Given the description of an element on the screen output the (x, y) to click on. 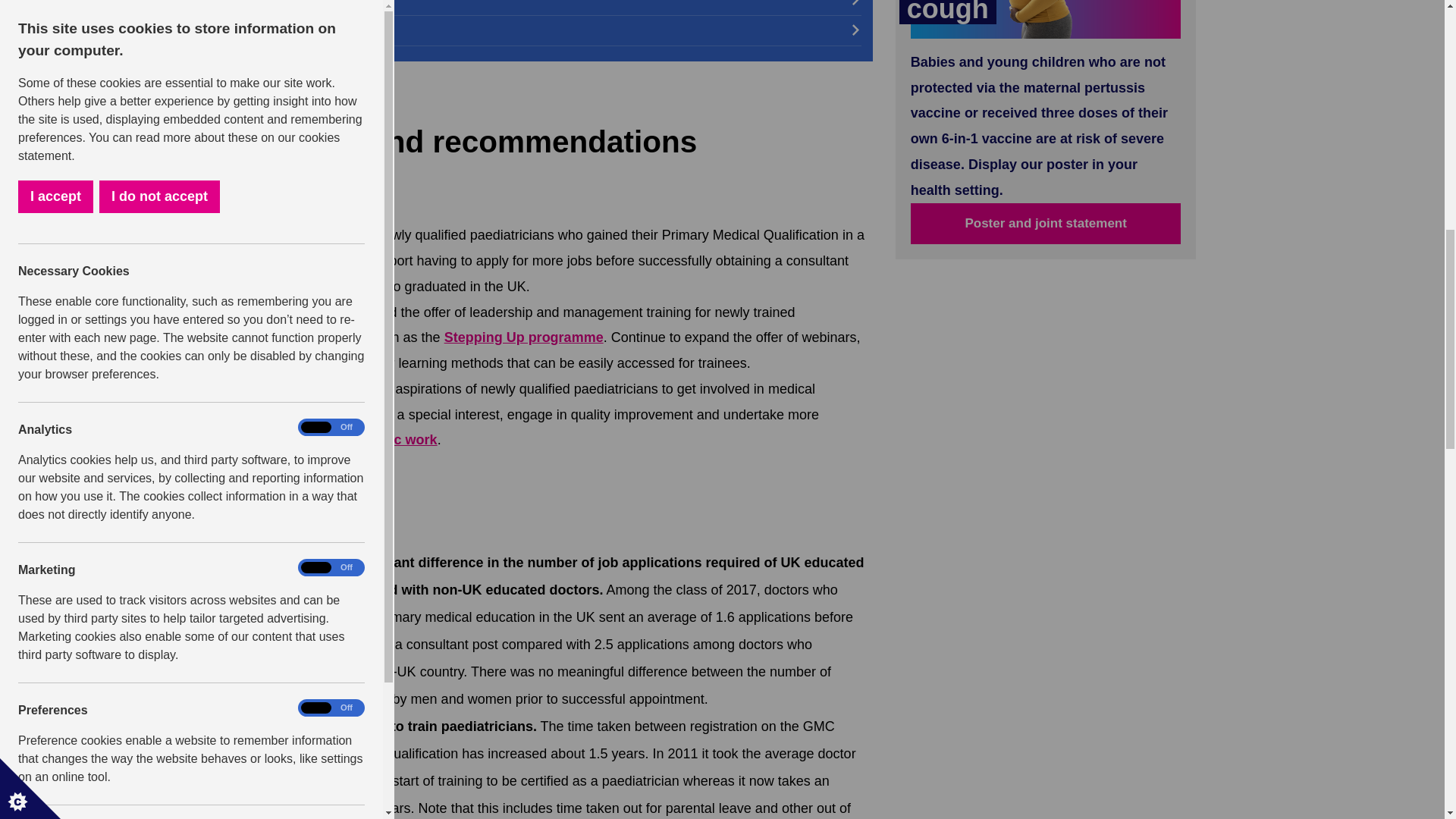
Return back to top (292, 474)
Return back to top (292, 104)
Close (14, 23)
Downloads (559, 30)
Key figures (559, 7)
